Given the description of an element on the screen output the (x, y) to click on. 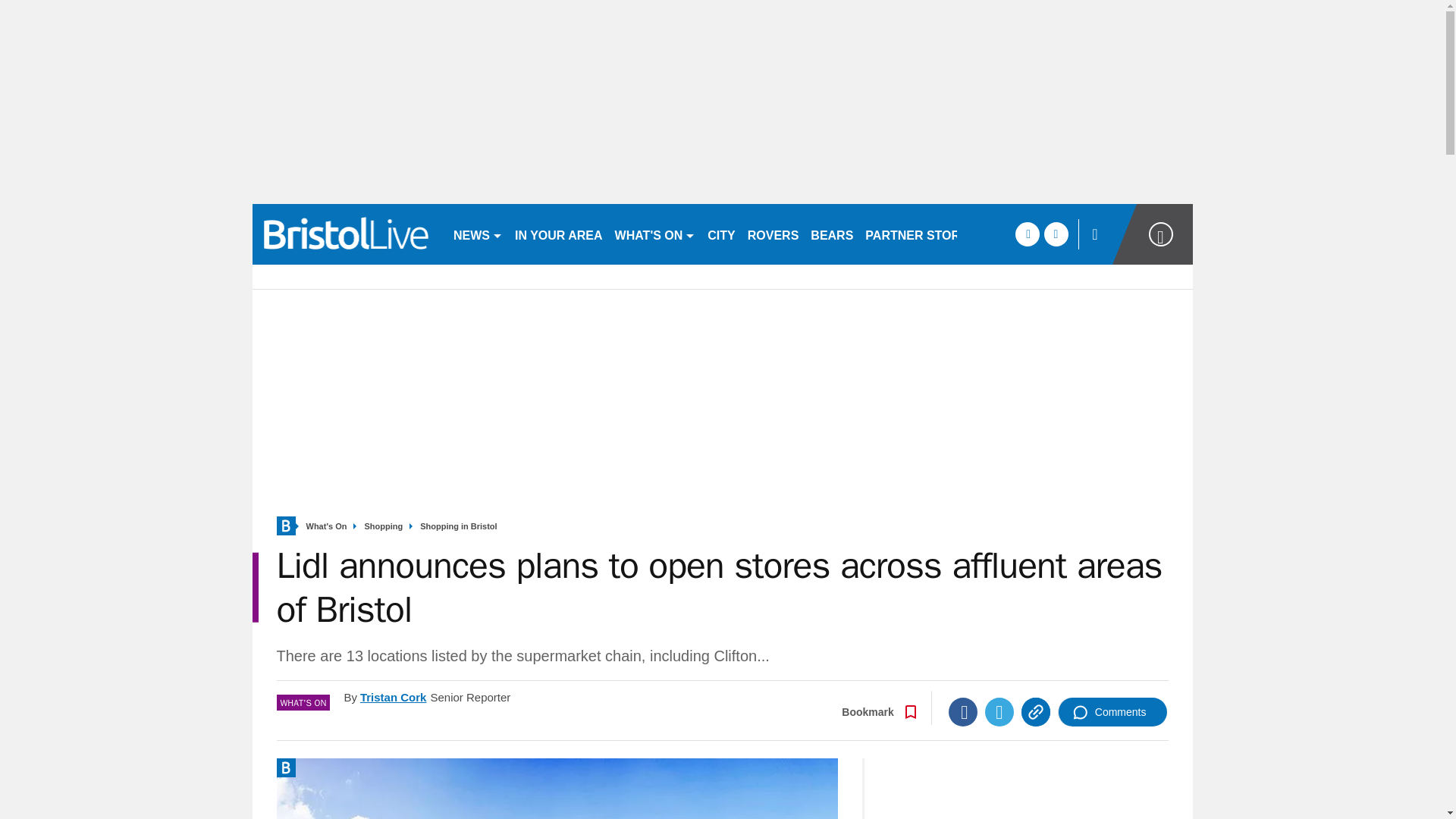
Facebook (962, 711)
facebook (1026, 233)
PARTNER STORIES (922, 233)
ROVERS (773, 233)
IN YOUR AREA (558, 233)
bristolpost (345, 233)
Comments (1112, 711)
WHAT'S ON (654, 233)
NEWS (477, 233)
Twitter (999, 711)
twitter (1055, 233)
BEARS (832, 233)
